Given the description of an element on the screen output the (x, y) to click on. 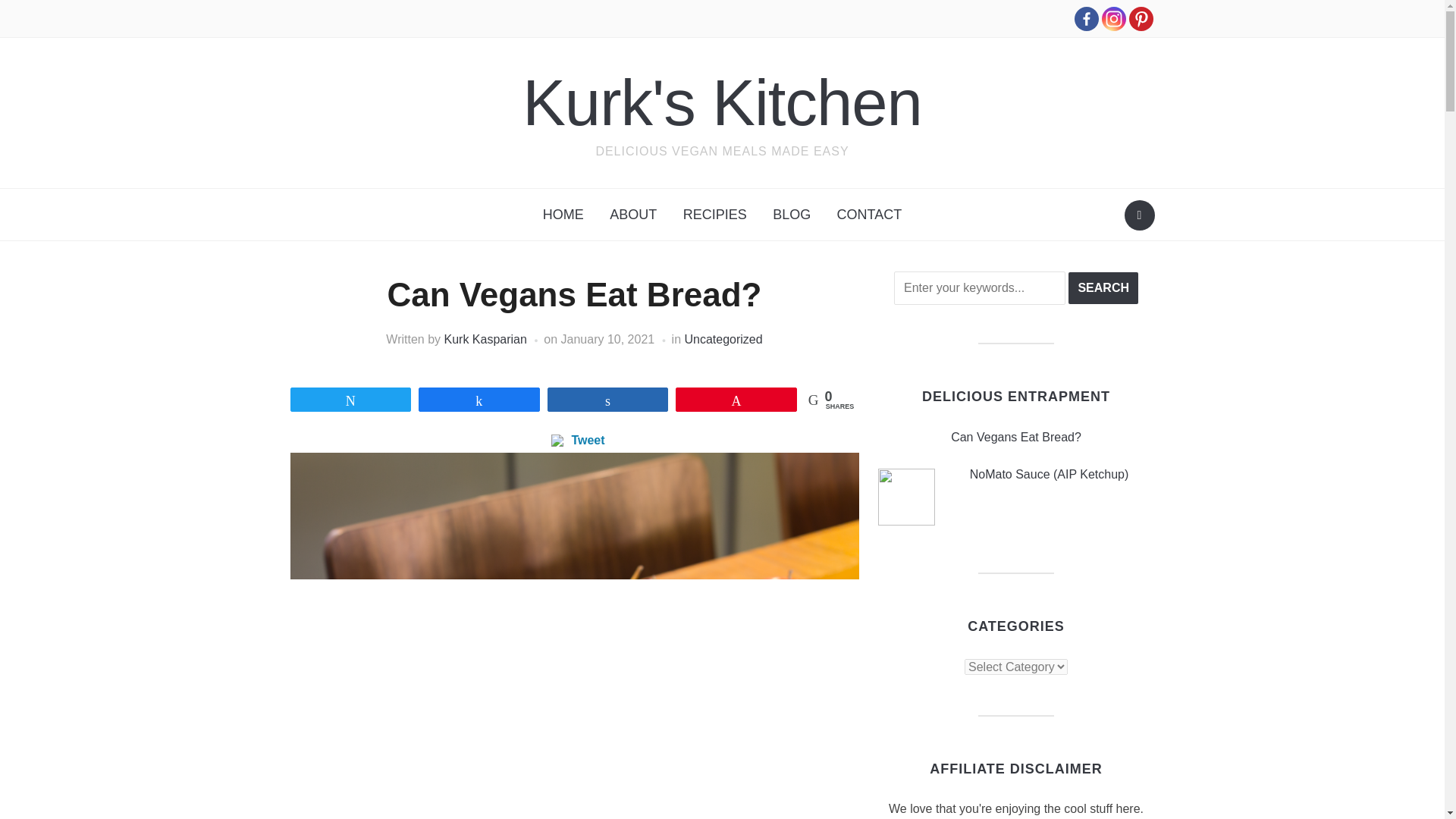
Search (1103, 287)
Instagram (1112, 18)
Delicious Vegan Meals made easy (721, 102)
Pinterest (1140, 18)
ABOUT (633, 214)
Posts by Kurk Kasparian (485, 338)
Search (1103, 287)
BLOG (791, 214)
Facebook (1085, 18)
RECIPIES (714, 214)
Kurk's Kitchen (721, 102)
HOME (563, 214)
Search (1139, 214)
